Given the description of an element on the screen output the (x, y) to click on. 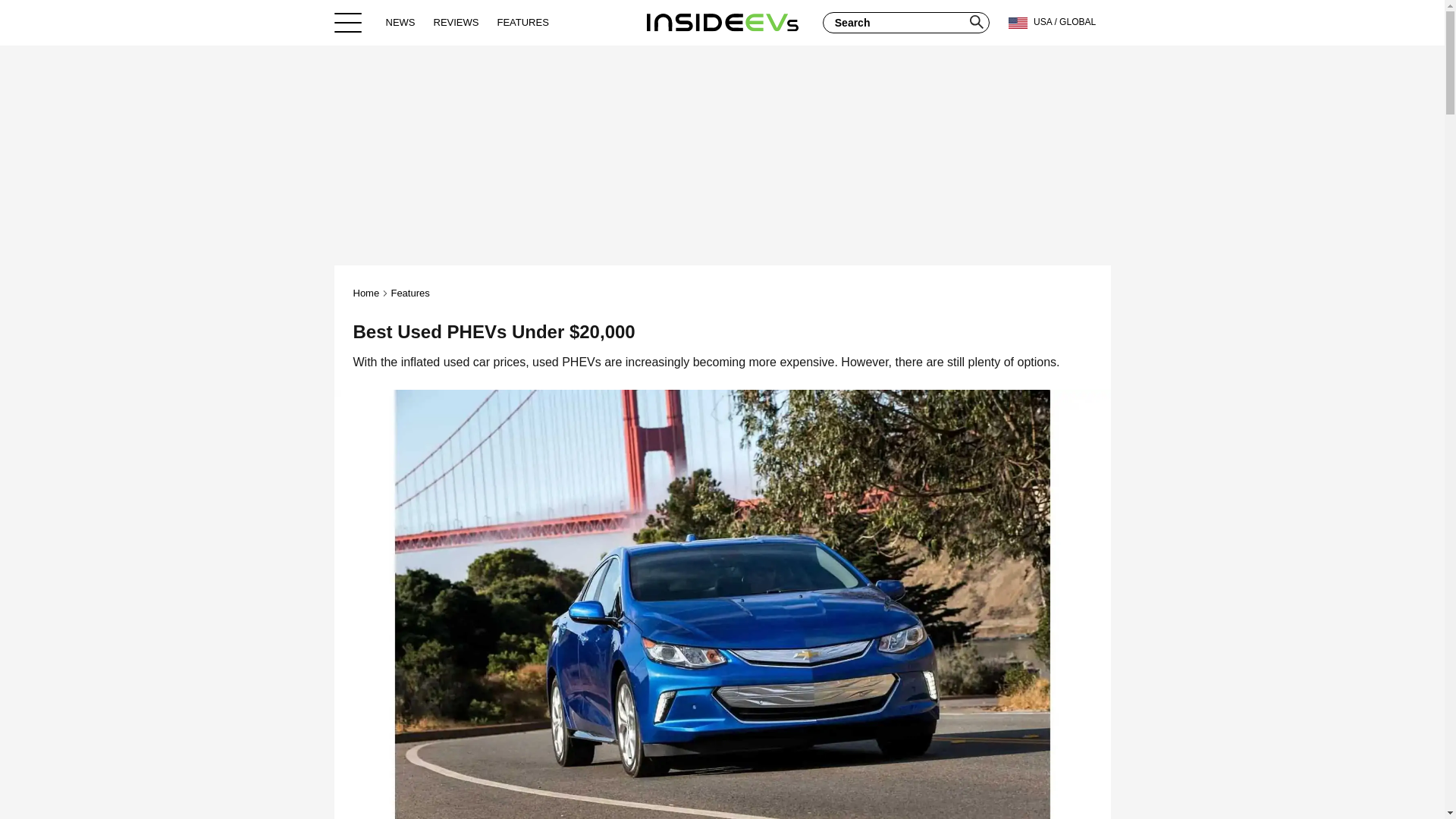
REVIEWS (456, 22)
NEWS (399, 22)
FEATURES (522, 22)
Features (409, 292)
Home (366, 293)
Home (721, 22)
